Given the description of an element on the screen output the (x, y) to click on. 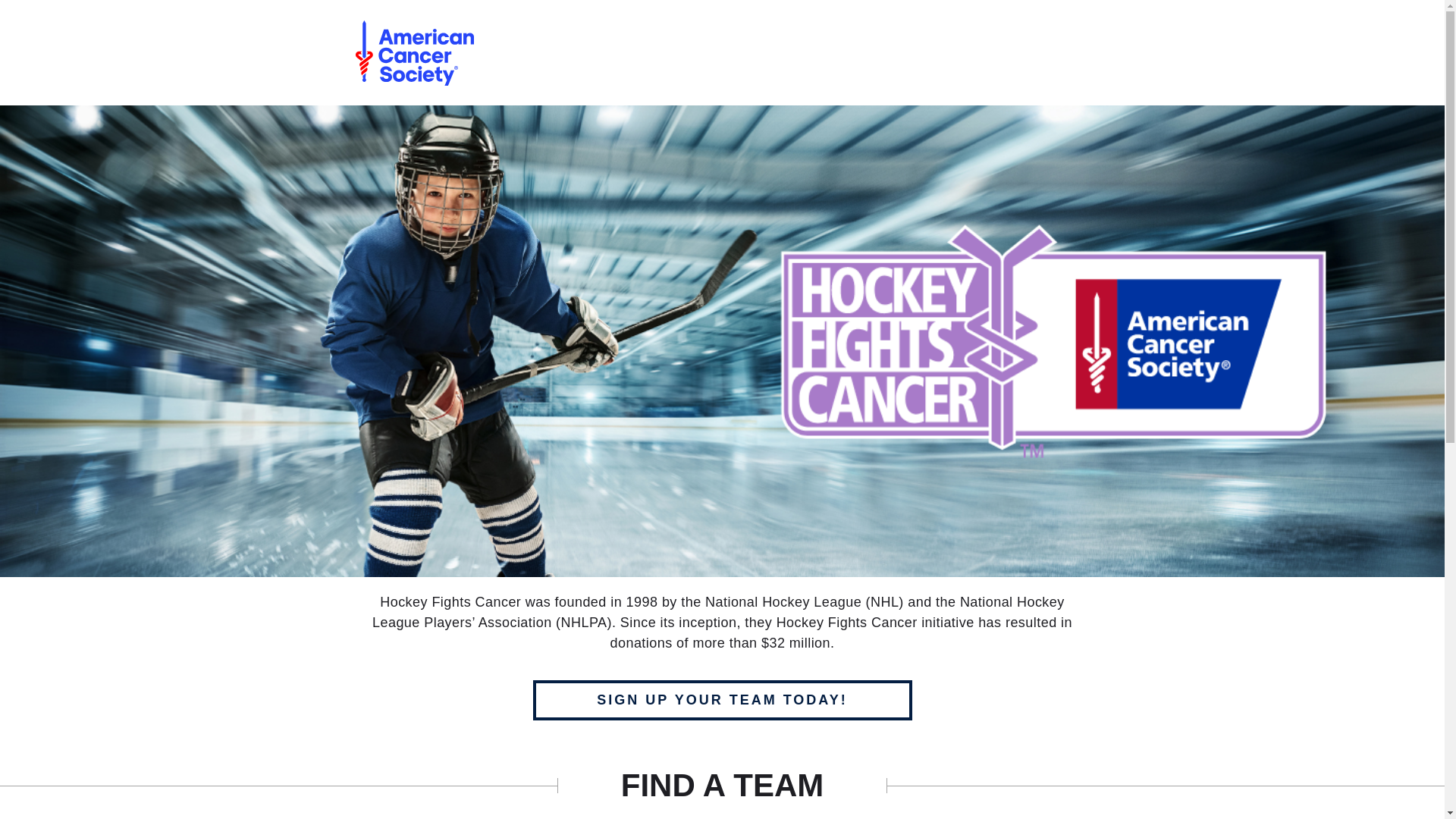
SIGN UP YOUR TEAM TODAY! (721, 700)
Sign Up Today (721, 700)
Masterbrand (414, 52)
